Given the description of an element on the screen output the (x, y) to click on. 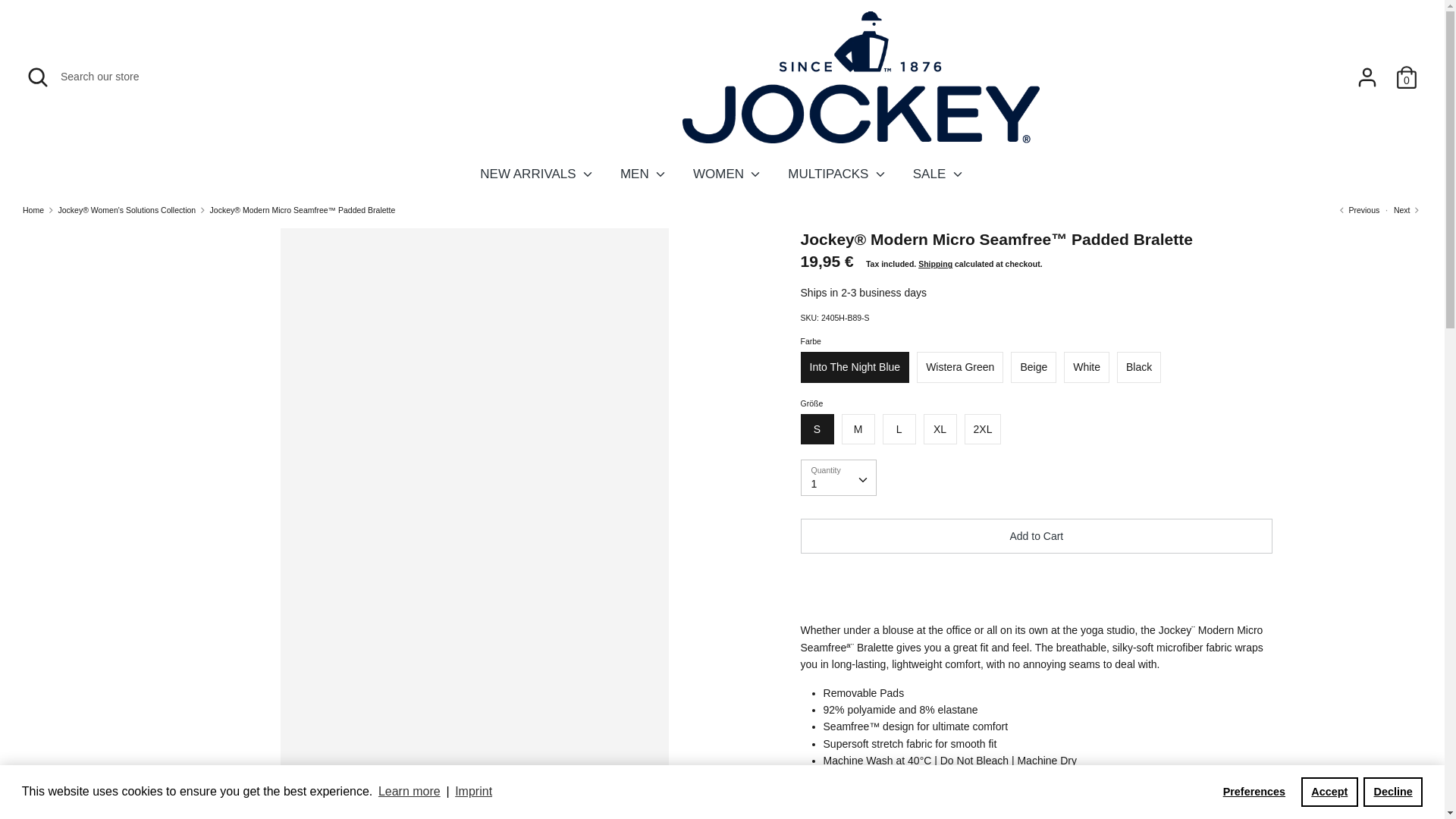
Accept (1329, 791)
Learn more (408, 791)
Preferences (1253, 791)
0 (1406, 70)
1 (839, 477)
Decline (1392, 791)
Imprint (473, 791)
